Given the description of an element on the screen output the (x, y) to click on. 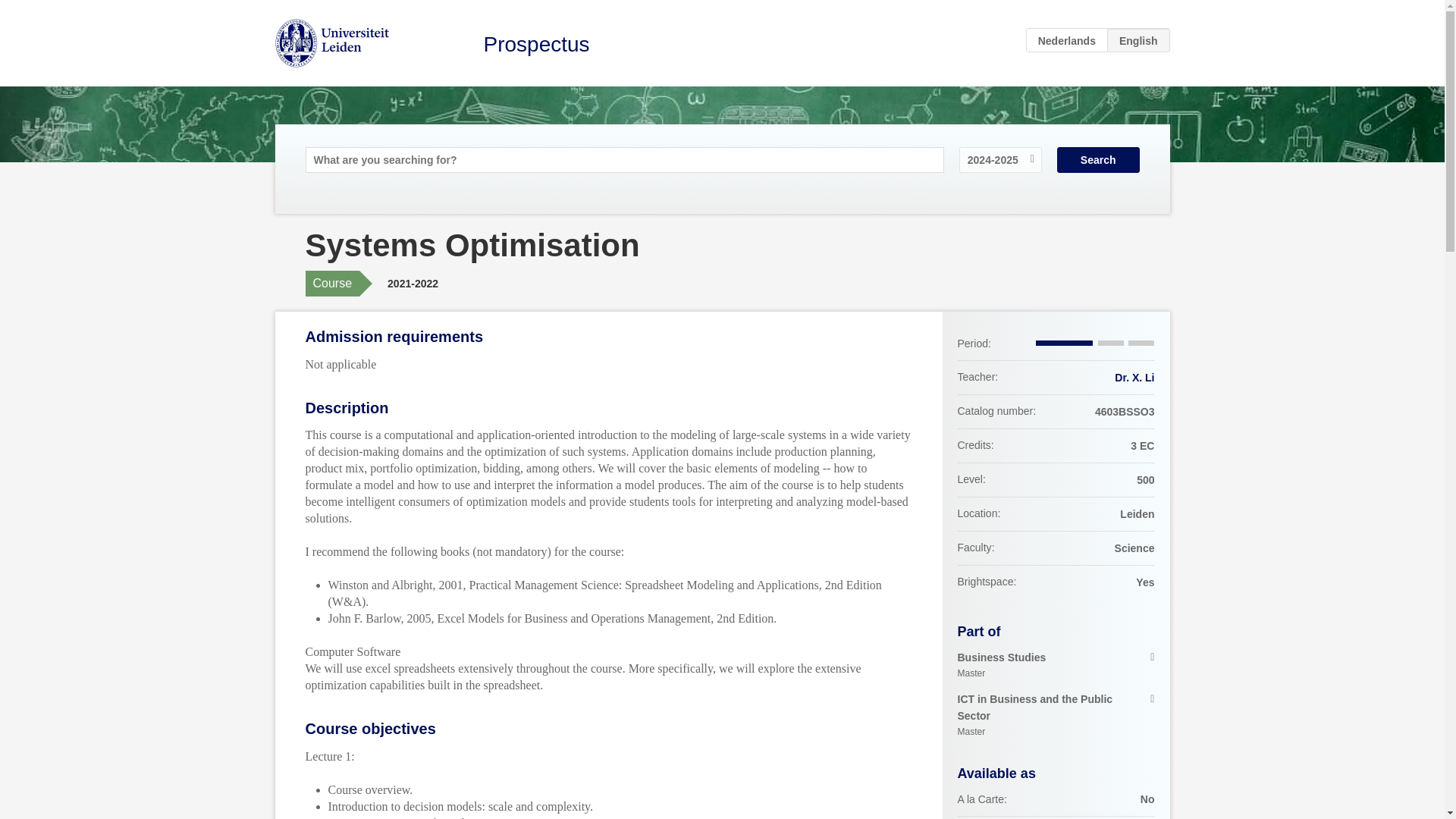
Dr. X. Li (1055, 716)
NL (1134, 377)
Search (1067, 39)
Prospectus (1098, 159)
